Given the description of an element on the screen output the (x, y) to click on. 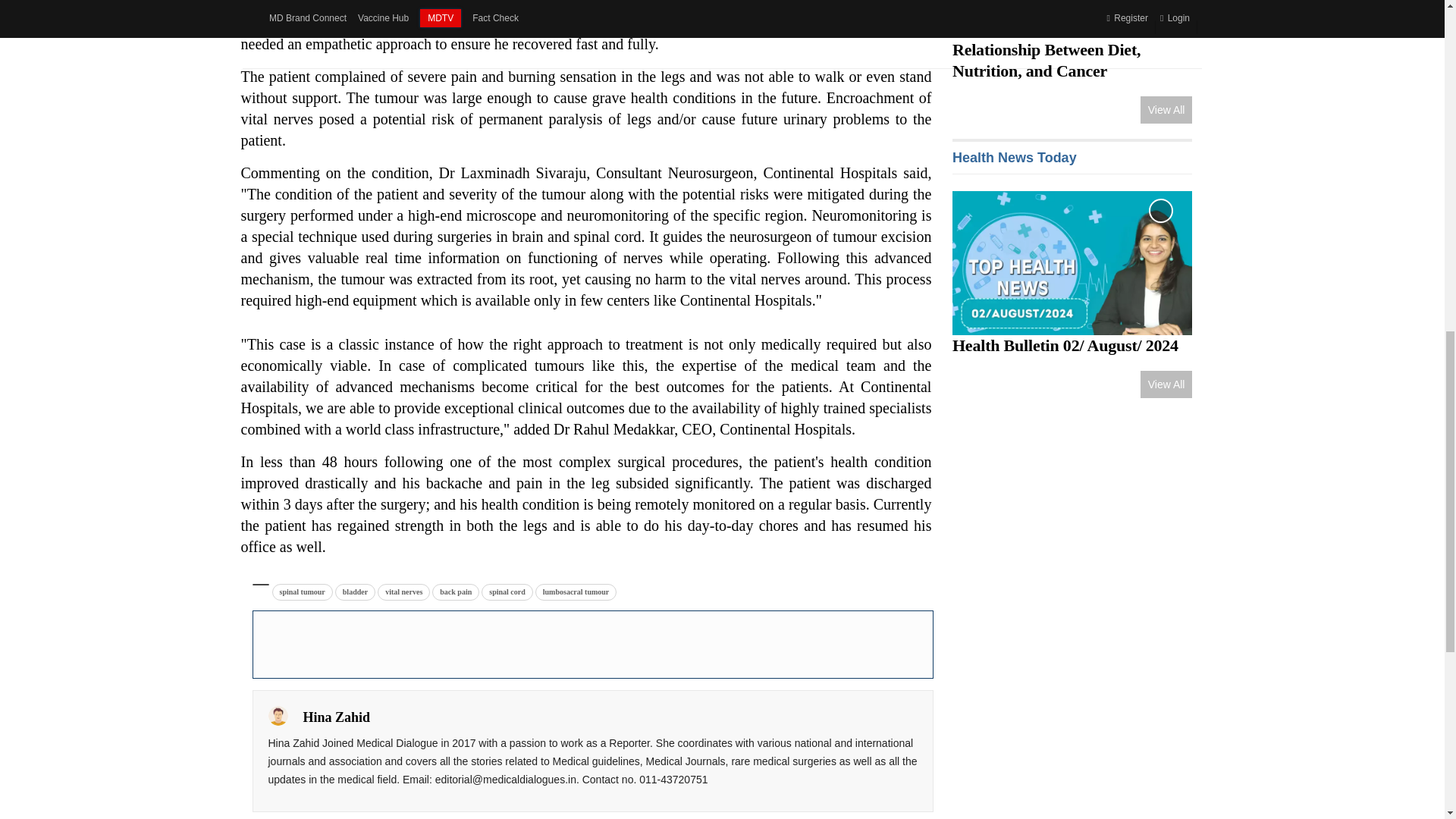
Hina Zahid (277, 715)
